Given the description of an element on the screen output the (x, y) to click on. 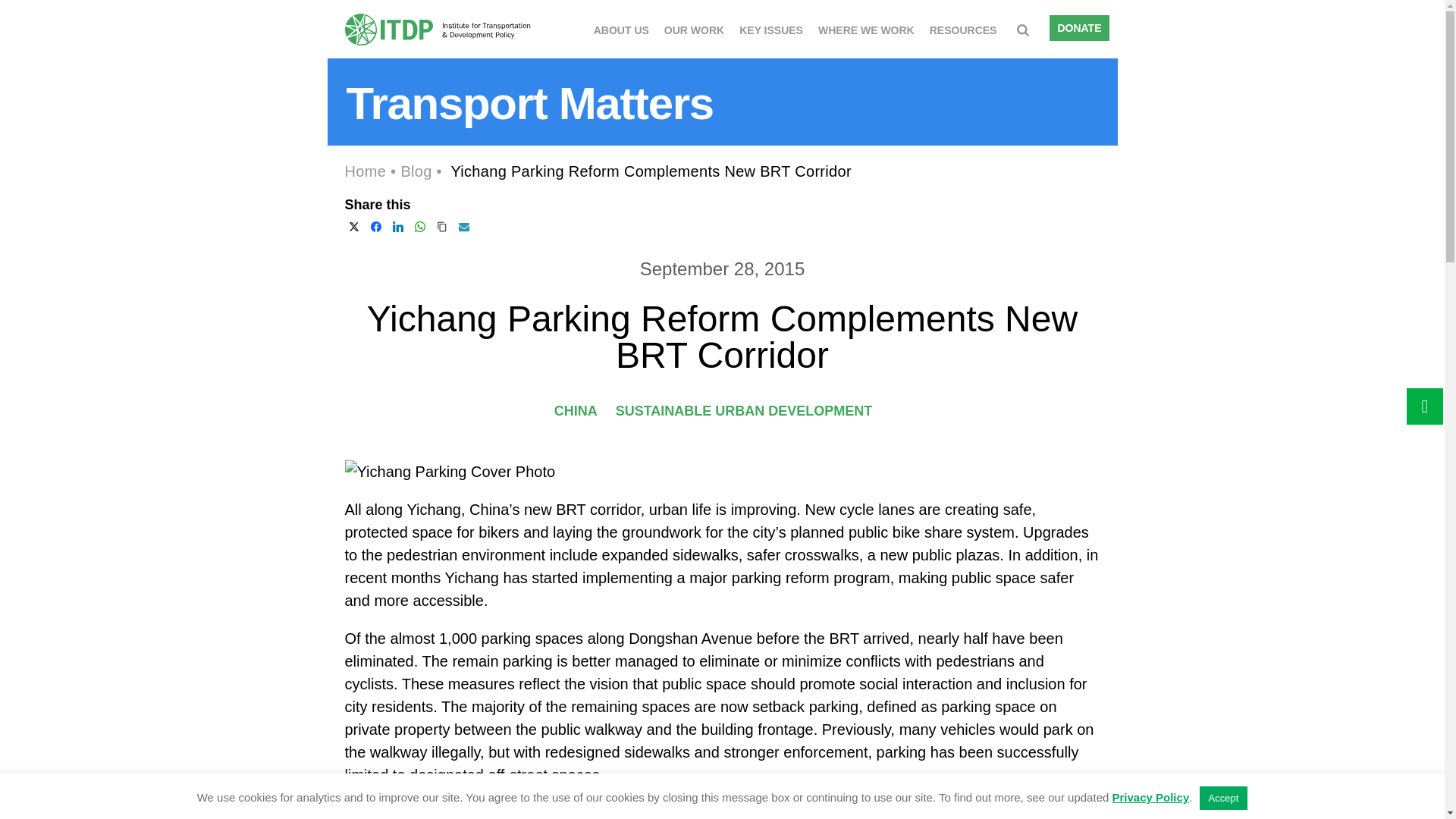
RESOURCES (963, 28)
DONATE (1078, 27)
Share on Linkedin (397, 226)
WHERE WE WORK (866, 28)
Share on Link Copy (440, 226)
Share on our Mailing List (463, 226)
OUR WORK (693, 28)
ABOUT US (621, 28)
Share on WhatsApp (419, 226)
Home (364, 170)
Blog (415, 170)
Share on Facebook (375, 226)
KEY ISSUES (771, 28)
Share on X (352, 226)
